Given the description of an element on the screen output the (x, y) to click on. 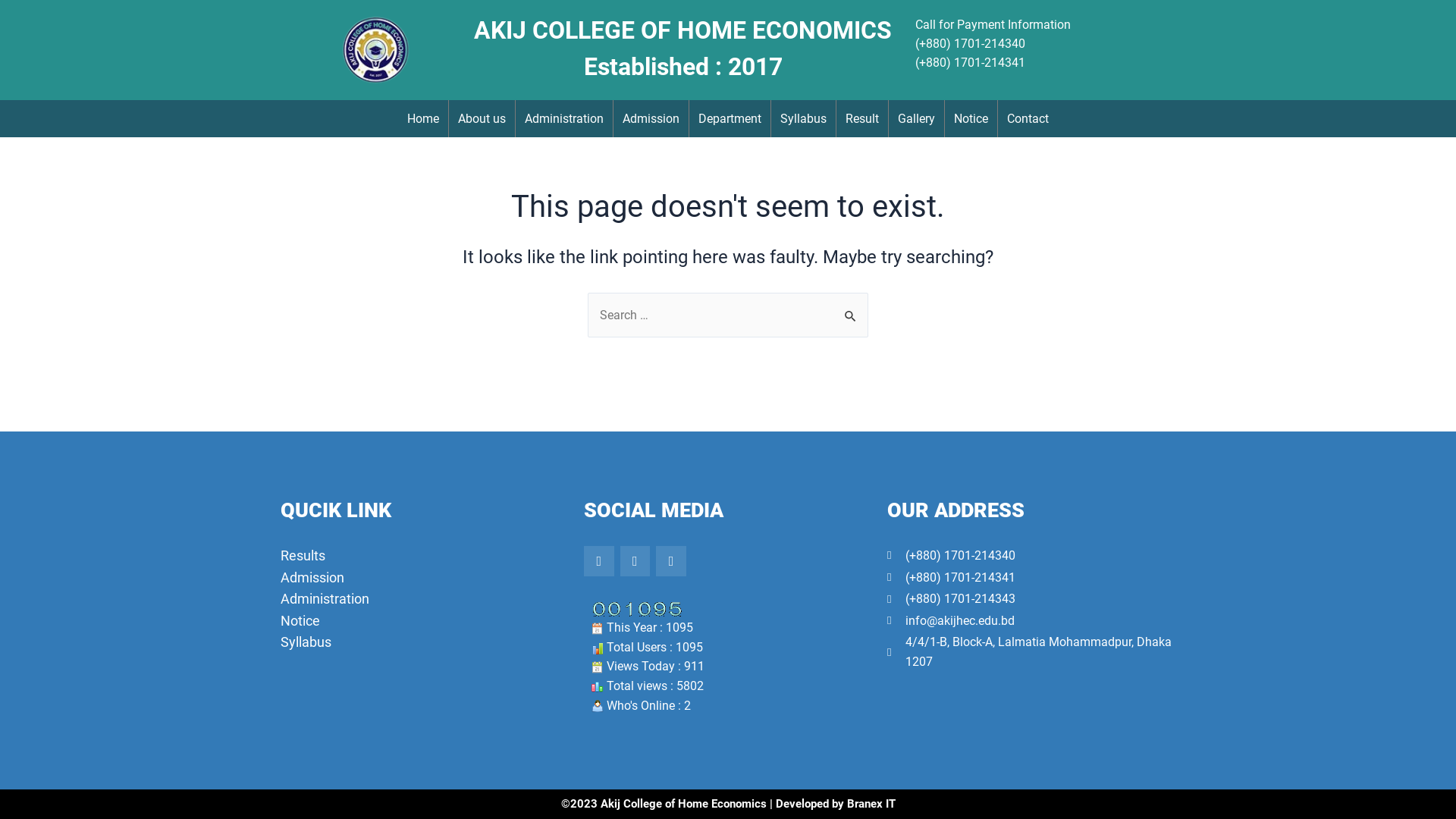
Administration Element type: text (563, 118)
Search Element type: text (851, 308)
Admission Element type: text (650, 118)
Twitter Element type: text (635, 561)
Result Element type: text (862, 118)
Admission Element type: text (424, 577)
Department Element type: text (729, 118)
Youtube Element type: text (670, 561)
Syllabus Element type: text (803, 118)
Facebook-f Element type: text (598, 561)
Contact Element type: text (1027, 118)
About us Element type: text (481, 118)
Notice Element type: text (970, 118)
Home Element type: text (423, 118)
Gallery Element type: text (916, 118)
